Given the description of an element on the screen output the (x, y) to click on. 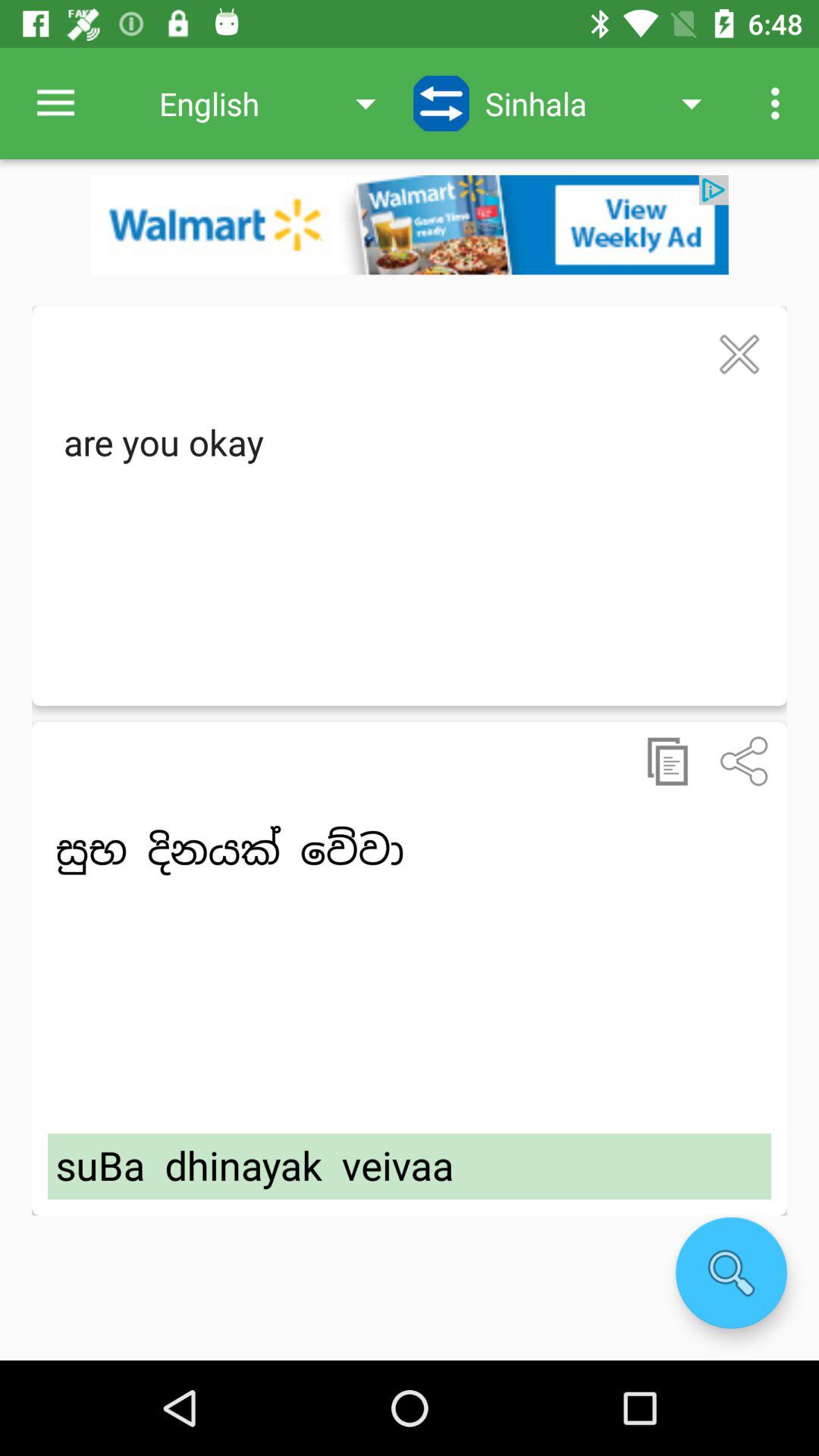
tap the item at the bottom right corner (731, 1272)
